Given the description of an element on the screen output the (x, y) to click on. 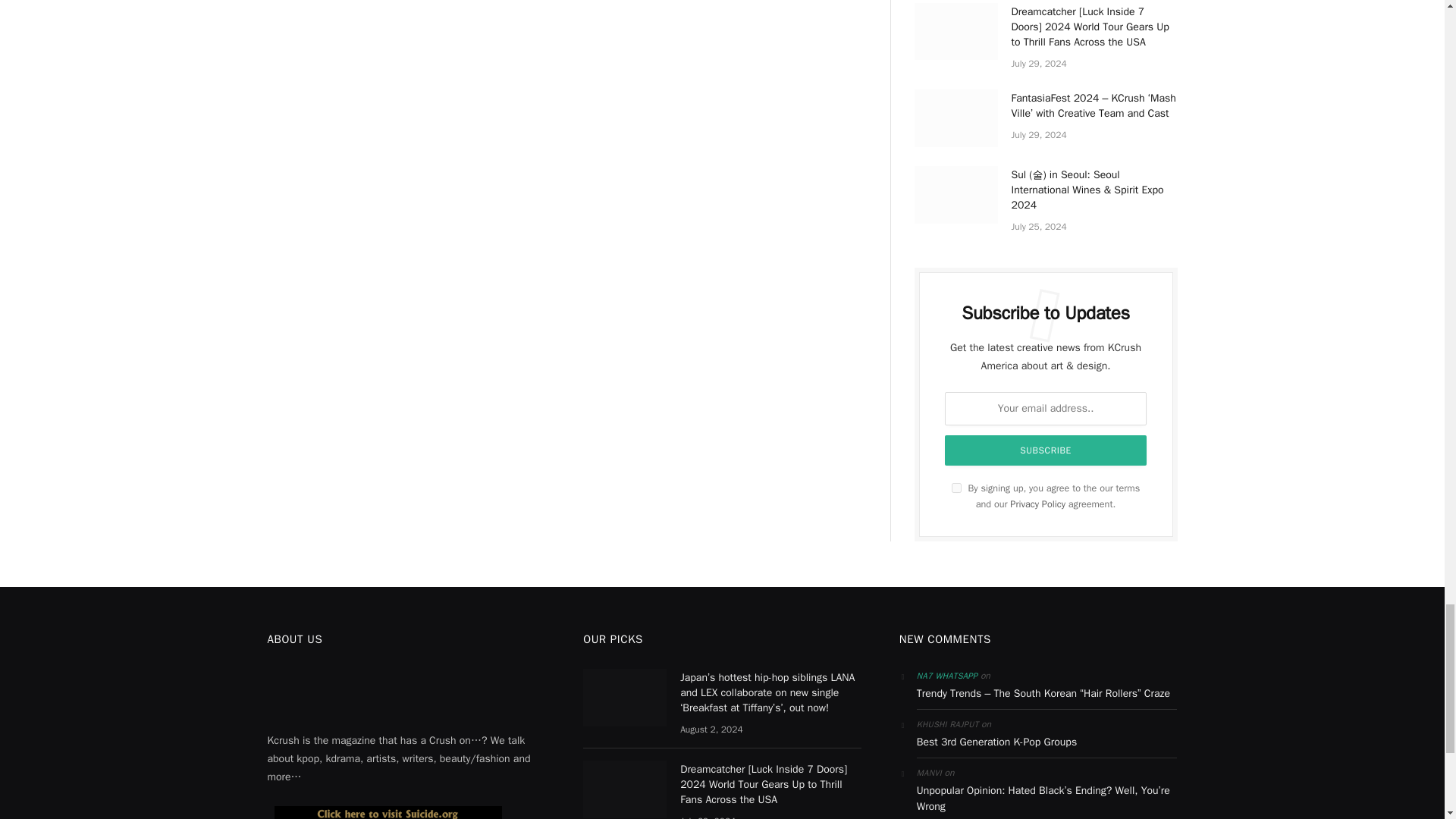
on (956, 488)
Subscribe (1045, 450)
